Given the description of an element on the screen output the (x, y) to click on. 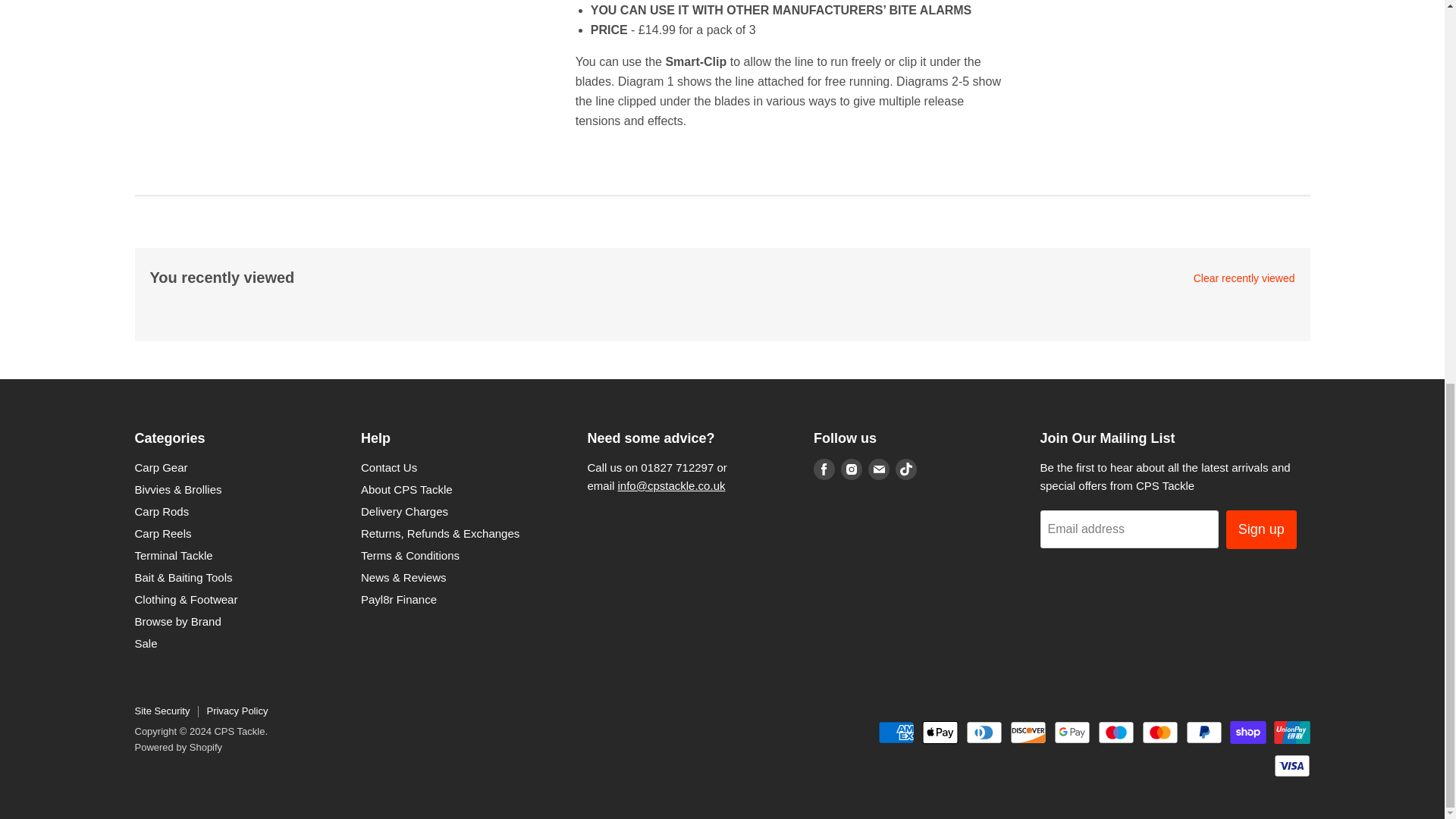
Facebook (823, 468)
Email (878, 468)
TikTok (906, 468)
Instagram (851, 468)
